Given the description of an element on the screen output the (x, y) to click on. 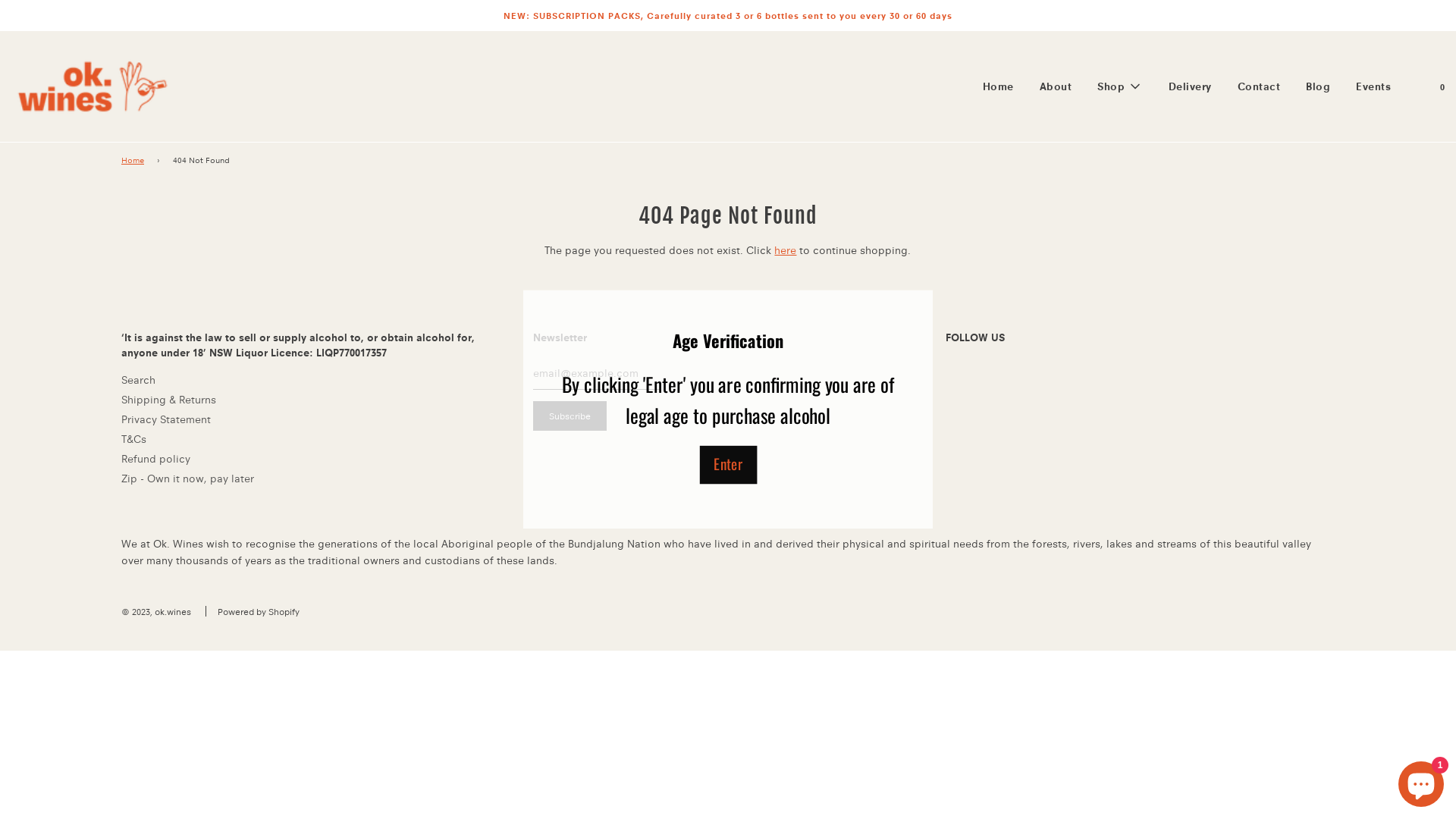
Subscribe Element type: text (569, 415)
Powered by Shopify Element type: text (258, 611)
here Element type: text (785, 250)
Home Element type: text (997, 86)
Home Element type: text (135, 159)
Search Element type: text (138, 379)
Shop Element type: text (1119, 85)
Privacy Statement Element type: text (165, 419)
0 Element type: text (1440, 86)
Shipping & Returns Element type: text (168, 399)
Contact Element type: text (1258, 86)
Delivery Element type: text (1190, 86)
Refund policy Element type: text (155, 458)
Events Element type: text (1373, 86)
T&Cs Element type: text (133, 438)
About Element type: text (1055, 86)
Blog Element type: text (1317, 86)
Shopify online store chat Element type: hover (1420, 780)
Zip - Own it now, pay later Element type: text (187, 478)
